Given the description of an element on the screen output the (x, y) to click on. 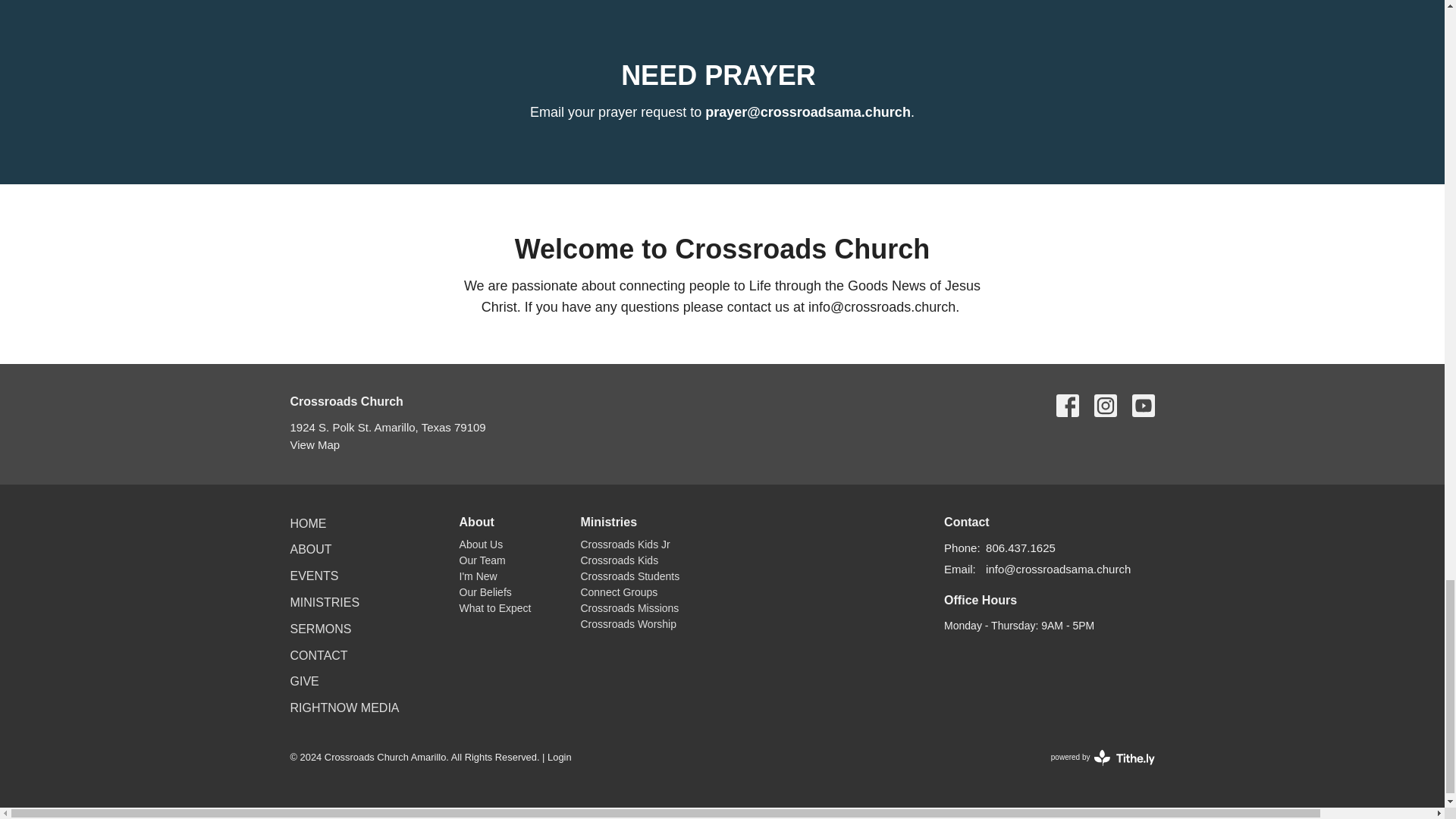
View Map (314, 444)
CONTACT (318, 655)
RIGHTNOW MEDIA (343, 707)
GIVE (303, 680)
MINISTRIES (324, 602)
ABOUT (310, 549)
HOME (307, 522)
translation missing: en.ui.email (957, 568)
SERMONS (319, 628)
Crossroads Prayer Ministry Email (807, 111)
EVENTS (313, 575)
